Given the description of an element on the screen output the (x, y) to click on. 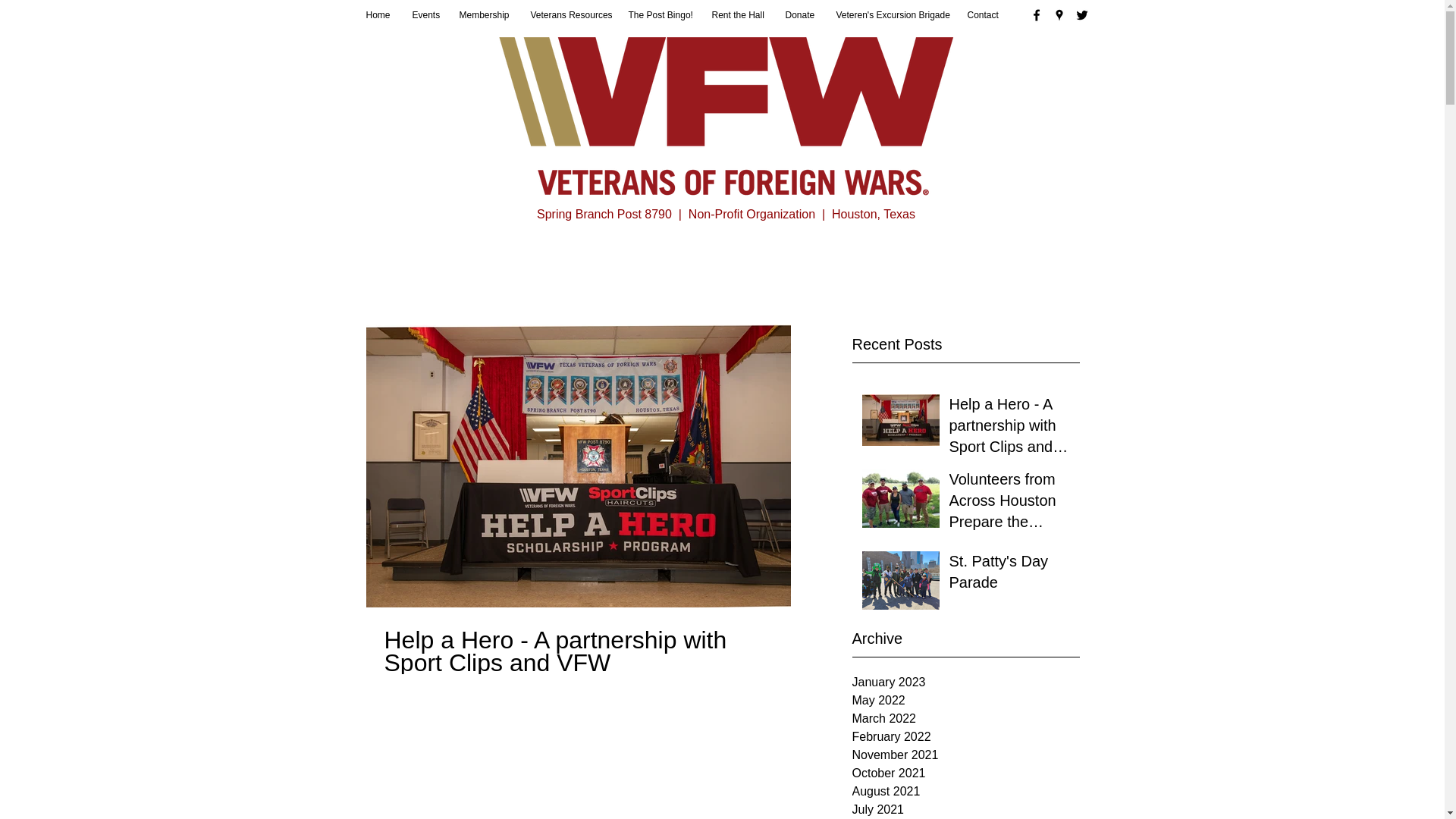
March 2022 (965, 719)
Contact (982, 15)
July 2021 (965, 809)
January 2023 (965, 682)
October 2021 (965, 773)
February 2022 (965, 737)
St. Patty's Day Parade (1009, 574)
Rent the Hall (737, 15)
Veteren's Excursion Brigade (890, 15)
The Post Bingo! (658, 15)
Donate (798, 15)
Home (378, 15)
August 2021 (965, 791)
Help a Hero - A partnership with Sport Clips and VFW (1009, 428)
